Given the description of an element on the screen output the (x, y) to click on. 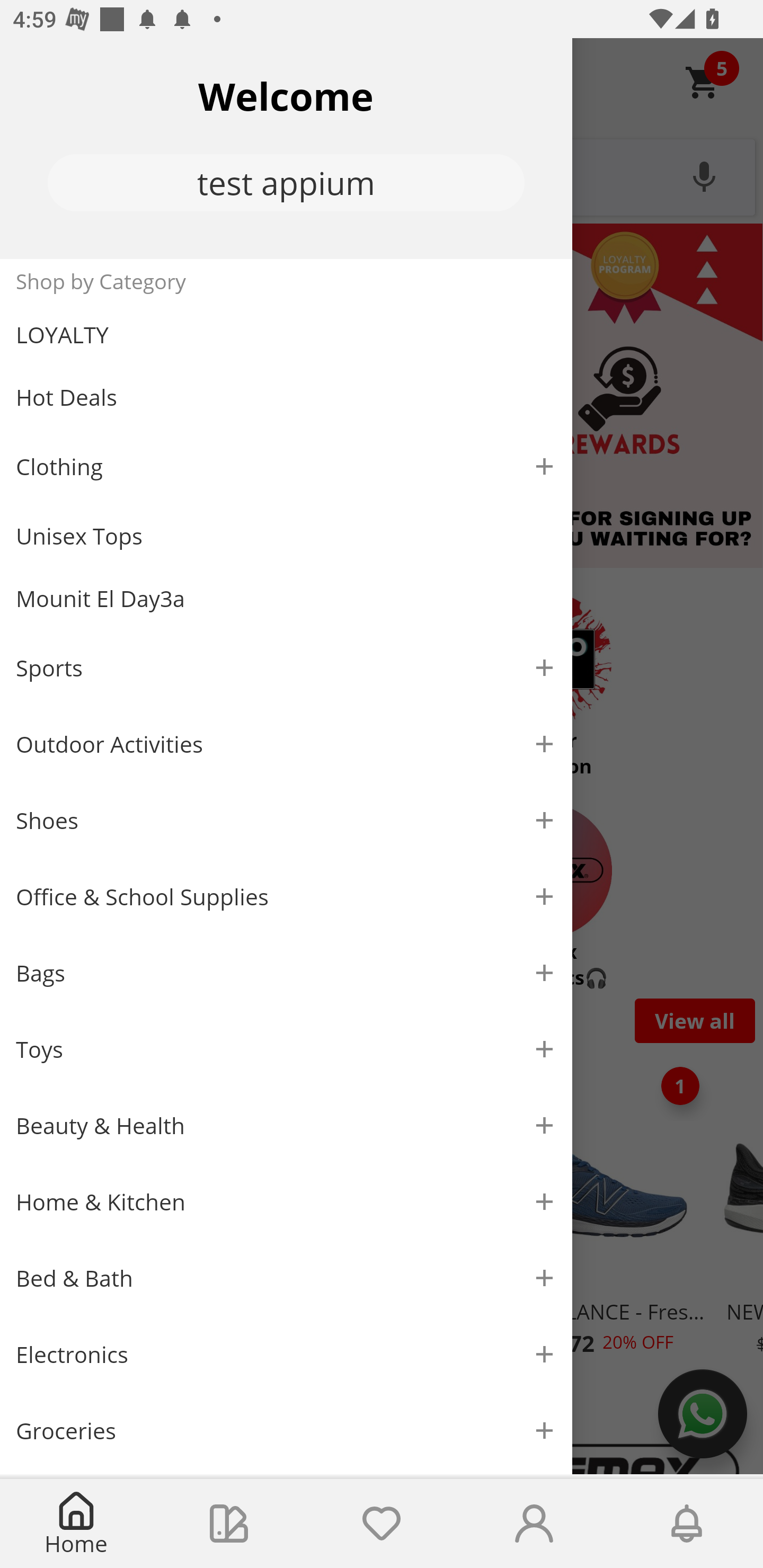
Welcome test appium (286, 147)
What are you looking for? (381, 175)
LOYALTY (286, 334)
Hot Deals (286, 396)
Clothing (286, 466)
Unisex Tops (286, 535)
Mounit El Day3a (286, 598)
Sports (286, 667)
Outdoor Activities (286, 743)
Shoes (286, 820)
Office & School Supplies (286, 896)
Bags (286, 972)
Toys (286, 1049)
Beauty & Health (286, 1125)
Home & Kitchen (286, 1201)
Bed & Bath (286, 1278)
Electronics (286, 1354)
Groceries (286, 1430)
Collections (228, 1523)
Wishlist (381, 1523)
Account (533, 1523)
Notifications (686, 1523)
